Given the description of an element on the screen output the (x, y) to click on. 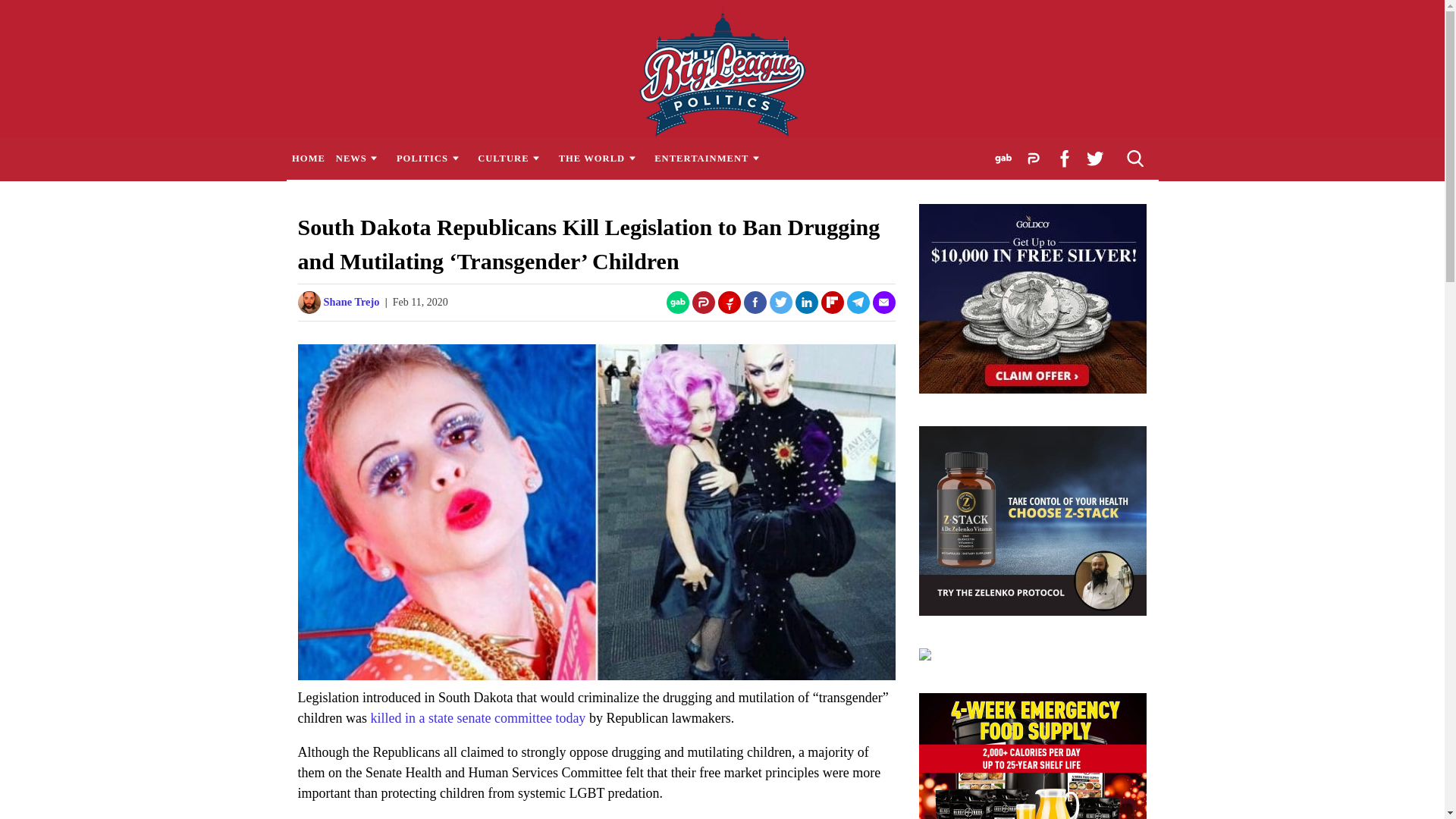
NEWS (360, 158)
THE WORLD (601, 158)
CULTURE (512, 158)
Posts by Shane Trejo (350, 302)
ENTERTAINMENT (711, 158)
HOME (308, 158)
POLITICS (430, 158)
